Given the description of an element on the screen output the (x, y) to click on. 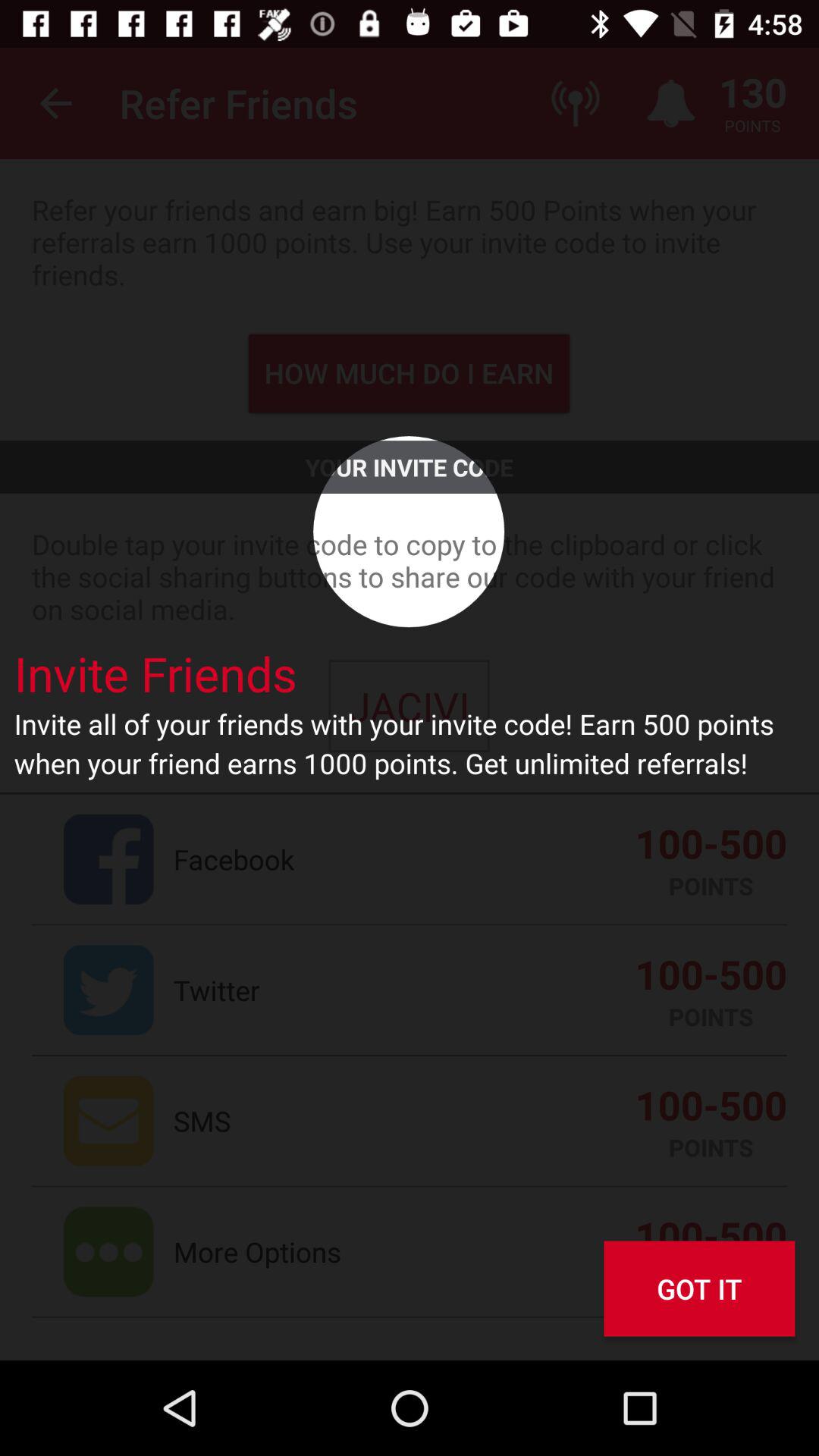
click got it (699, 1288)
